Given the description of an element on the screen output the (x, y) to click on. 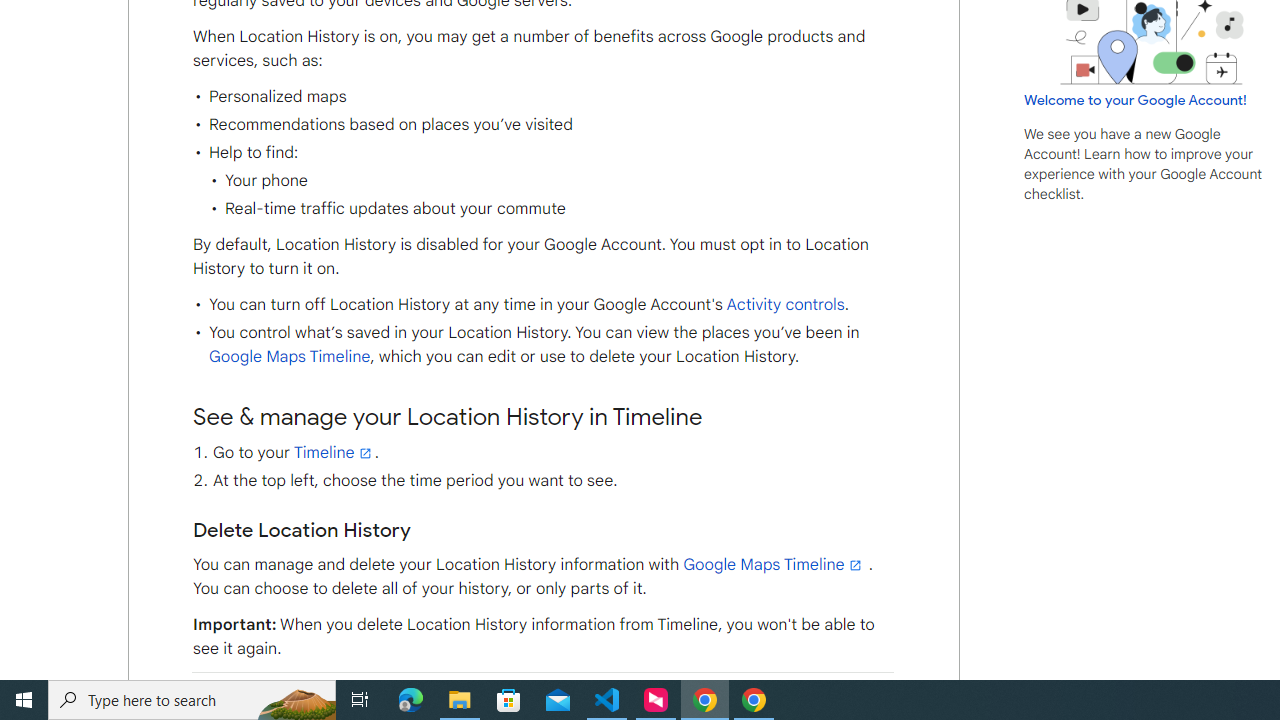
Google Maps Timeline (774, 565)
Welcome to your Google Account! (1135, 99)
Activity controls (784, 305)
Timeline (334, 452)
